Given the description of an element on the screen output the (x, y) to click on. 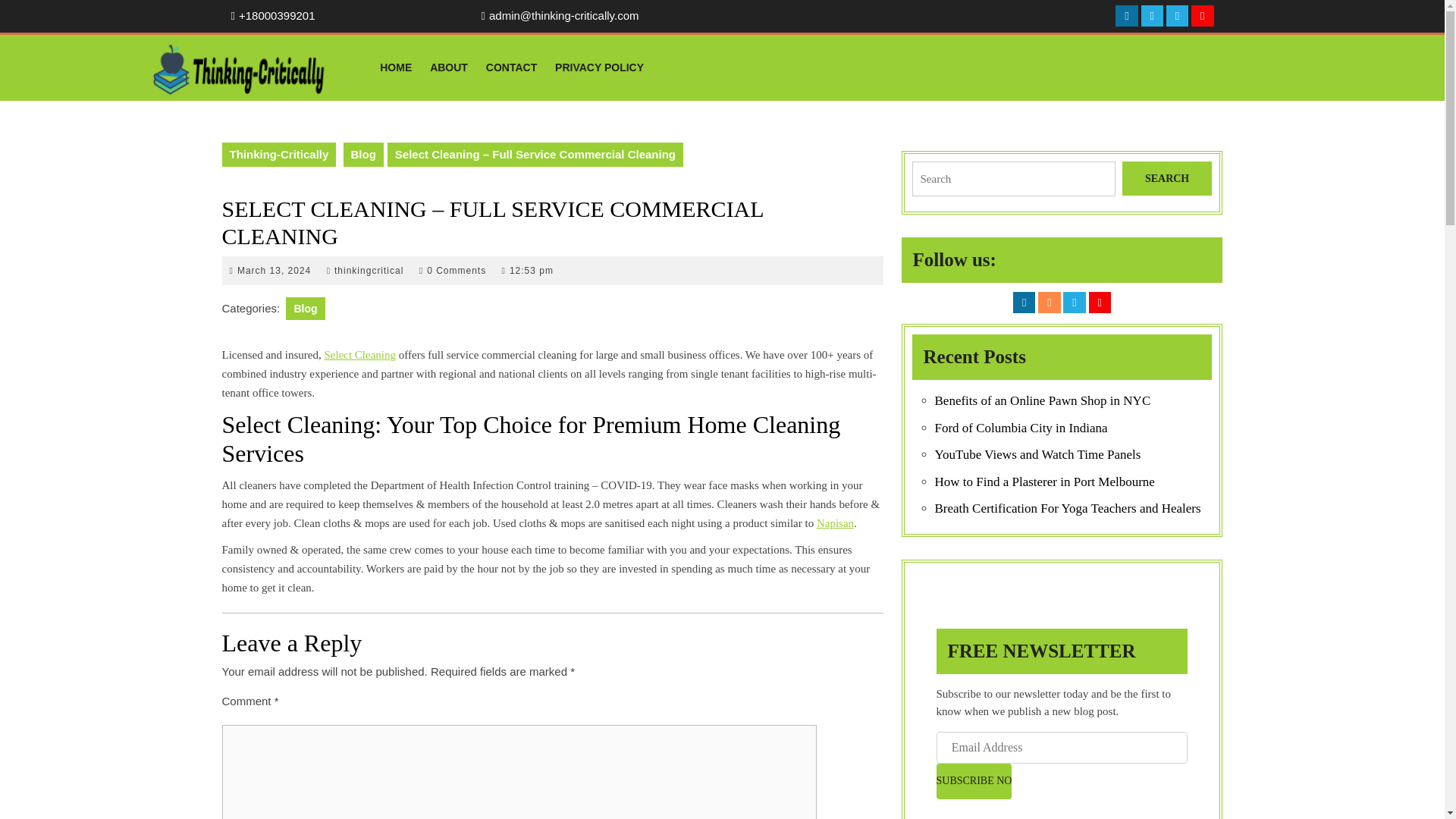
HOME (368, 270)
Twitter (395, 67)
Blog (1048, 301)
ABOUT (363, 154)
Napisan (449, 67)
Instagram (834, 522)
PRIVACY POLICY (1177, 15)
Linkedin (598, 67)
